Given the description of an element on the screen output the (x, y) to click on. 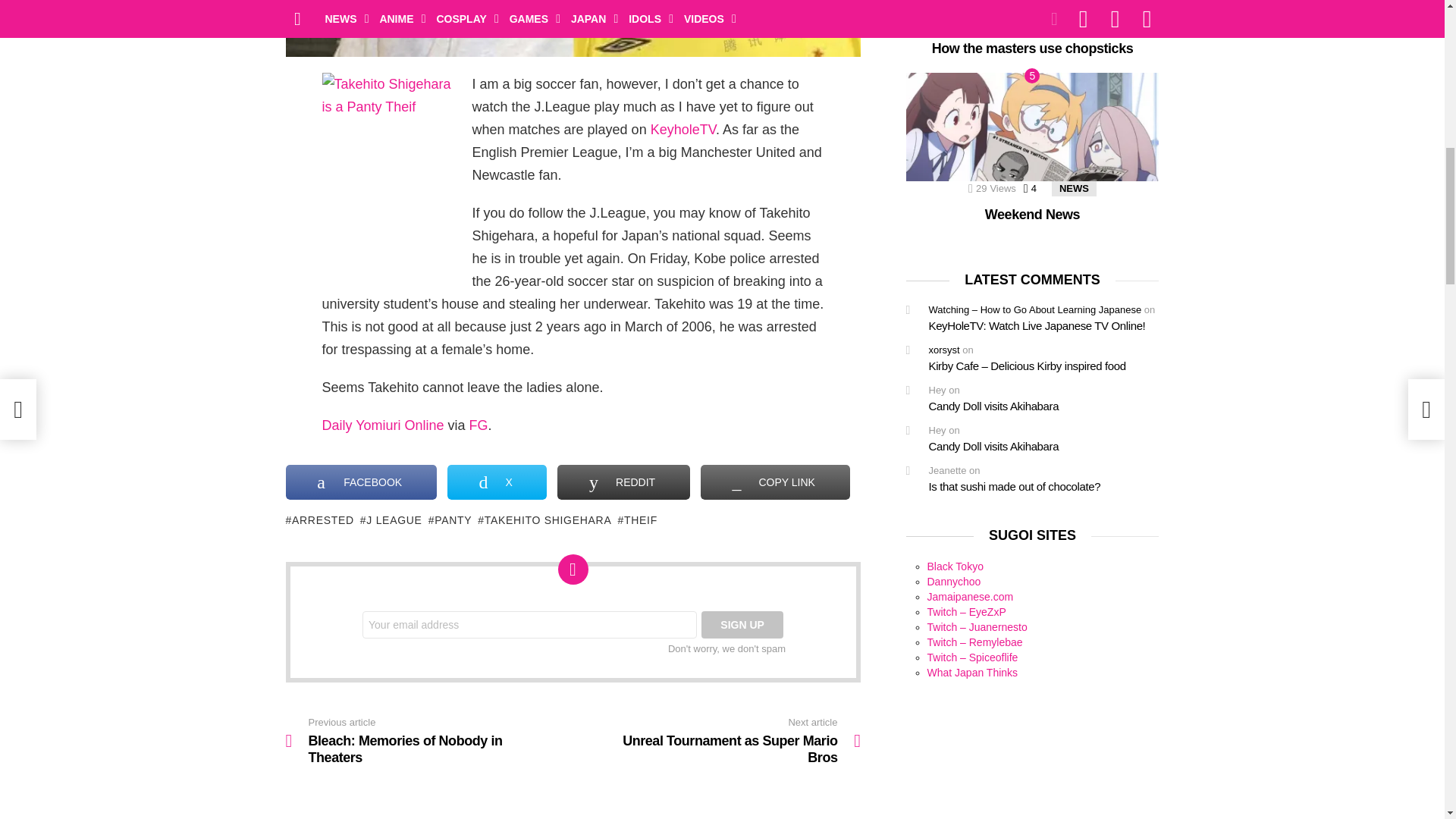
Sign up (742, 624)
